Given the description of an element on the screen output the (x, y) to click on. 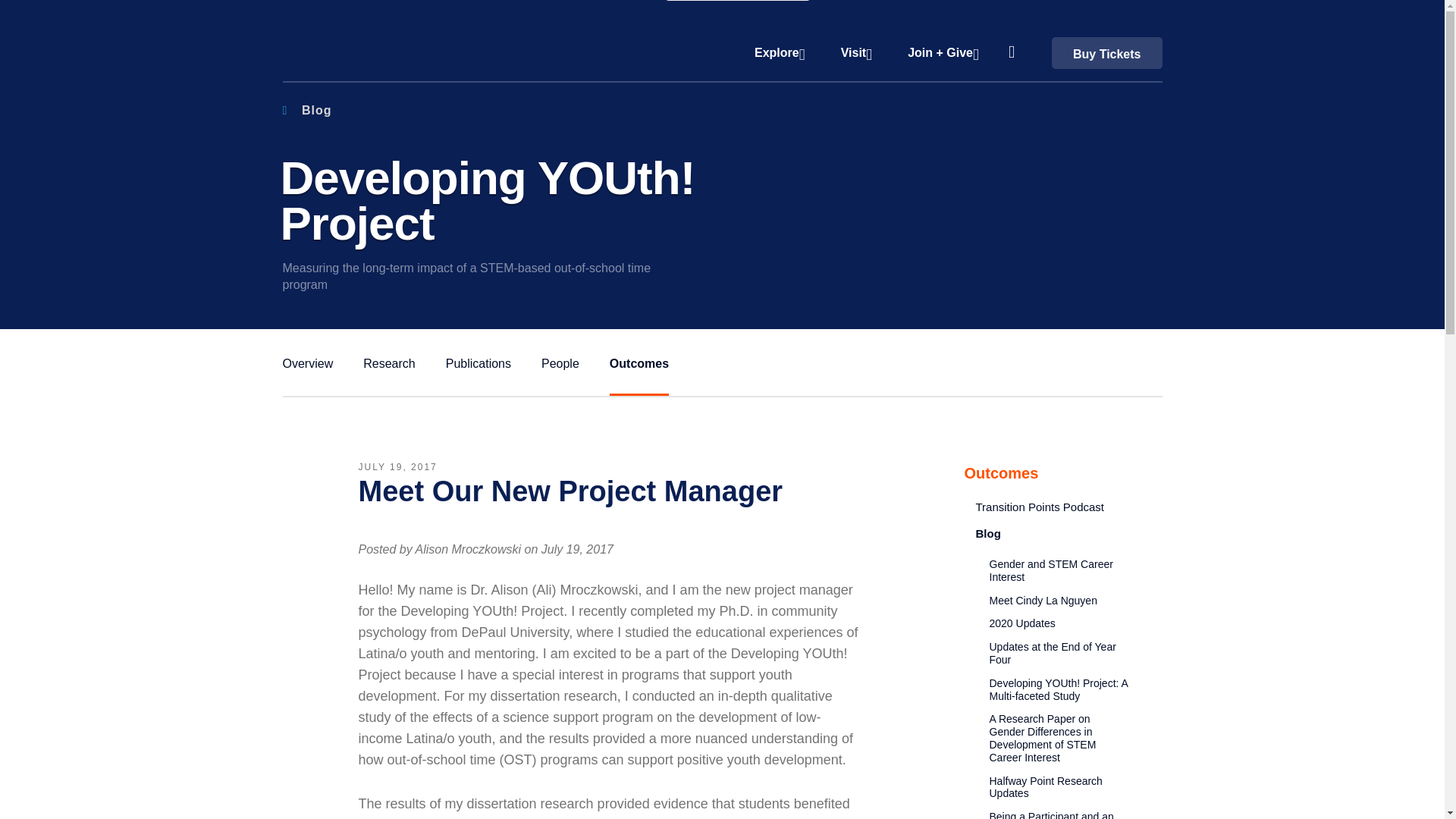
Visit (853, 56)
Explore (776, 56)
Blog (306, 110)
Buy Tickets (1106, 52)
Visit (853, 56)
Search (1014, 48)
People (560, 360)
Buy Tickets (1106, 52)
Explore (776, 56)
Research (721, 200)
Blog (388, 360)
Overview (306, 110)
Publications (307, 360)
